Given the description of an element on the screen output the (x, y) to click on. 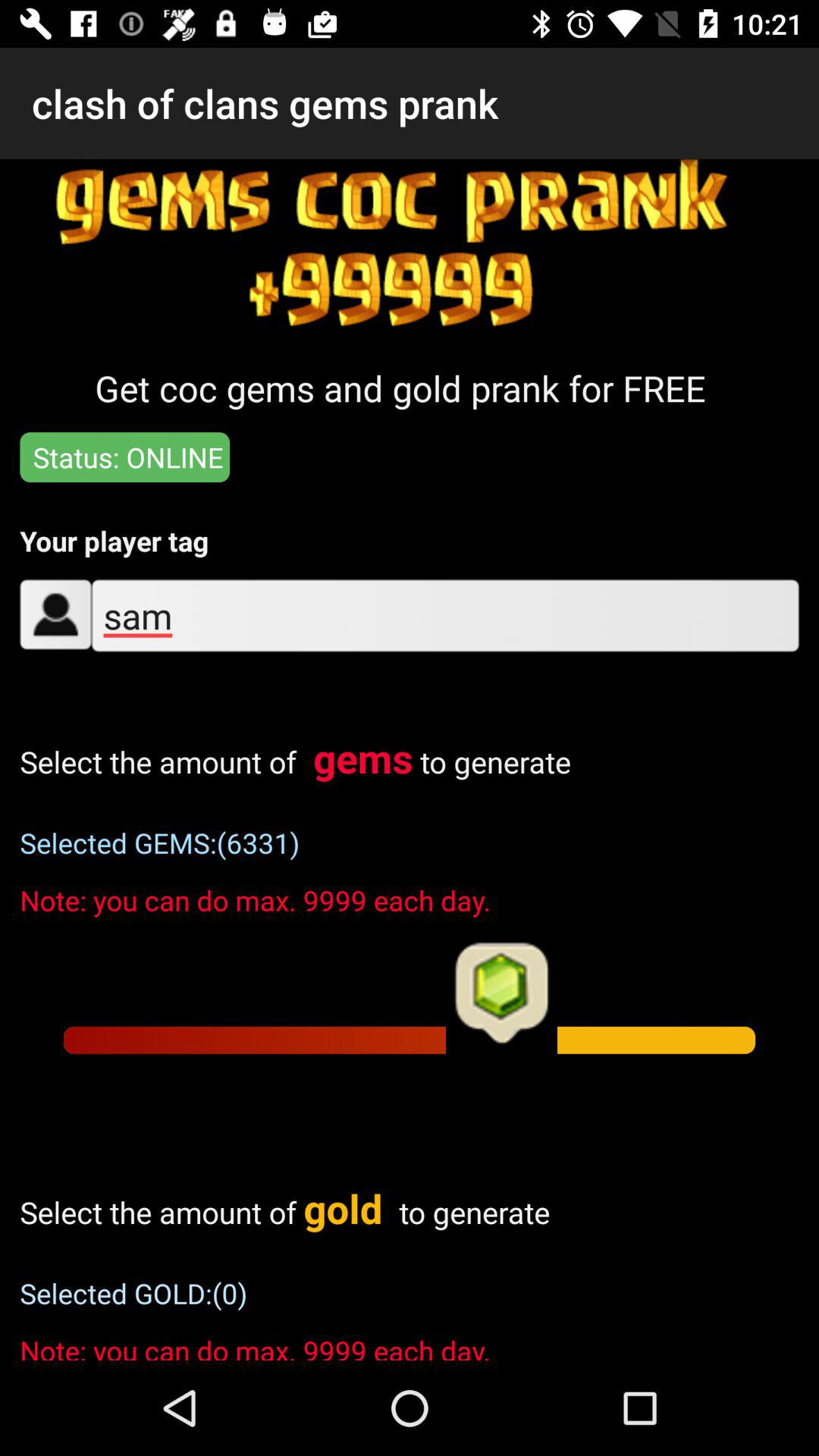
turn off icon below the your player tag icon (445, 615)
